Given the description of an element on the screen output the (x, y) to click on. 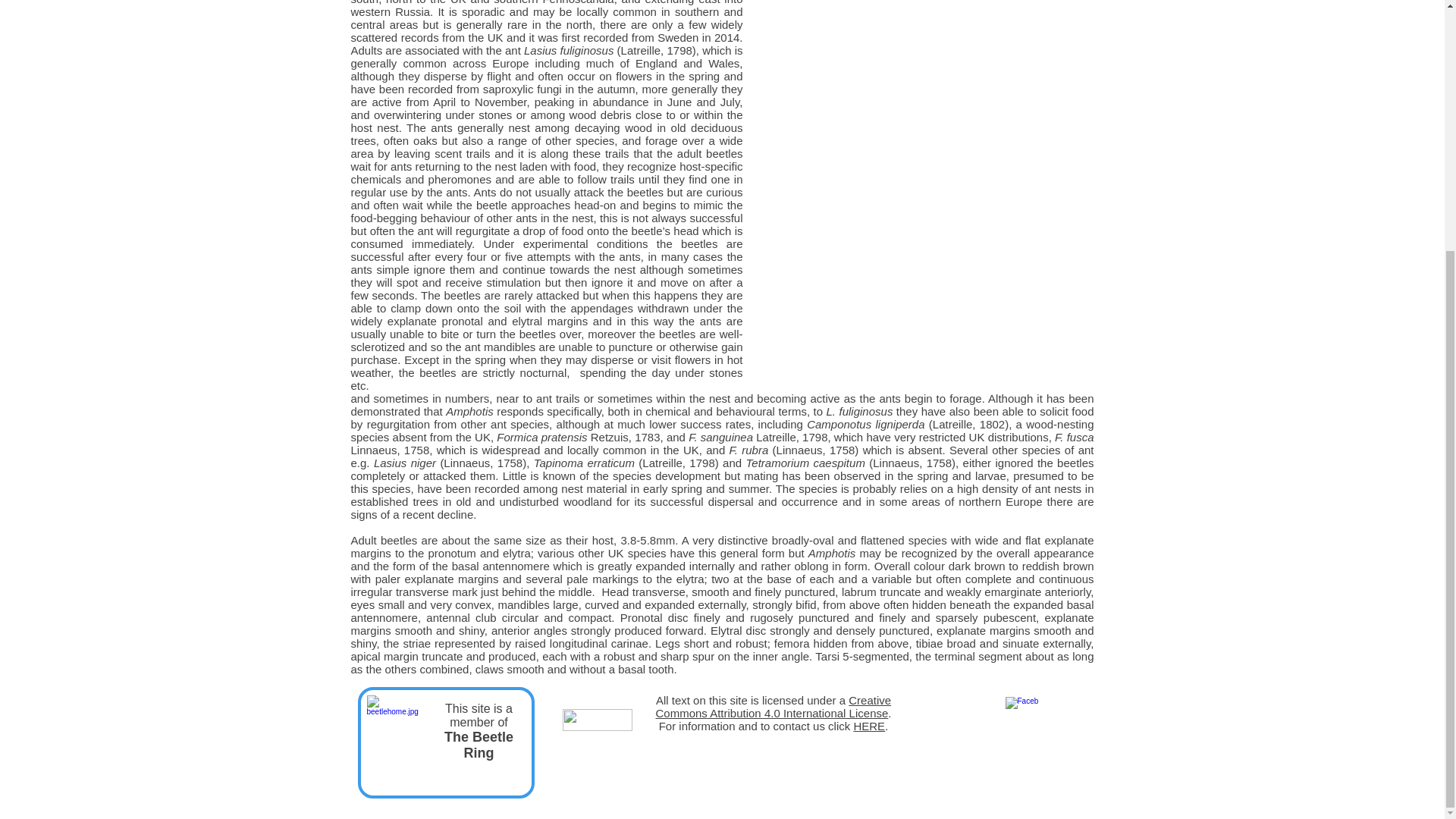
HERE (869, 725)
Creative Commons Attribution 4.0 International License (773, 706)
The Beetle Ring (478, 744)
